Given the description of an element on the screen output the (x, y) to click on. 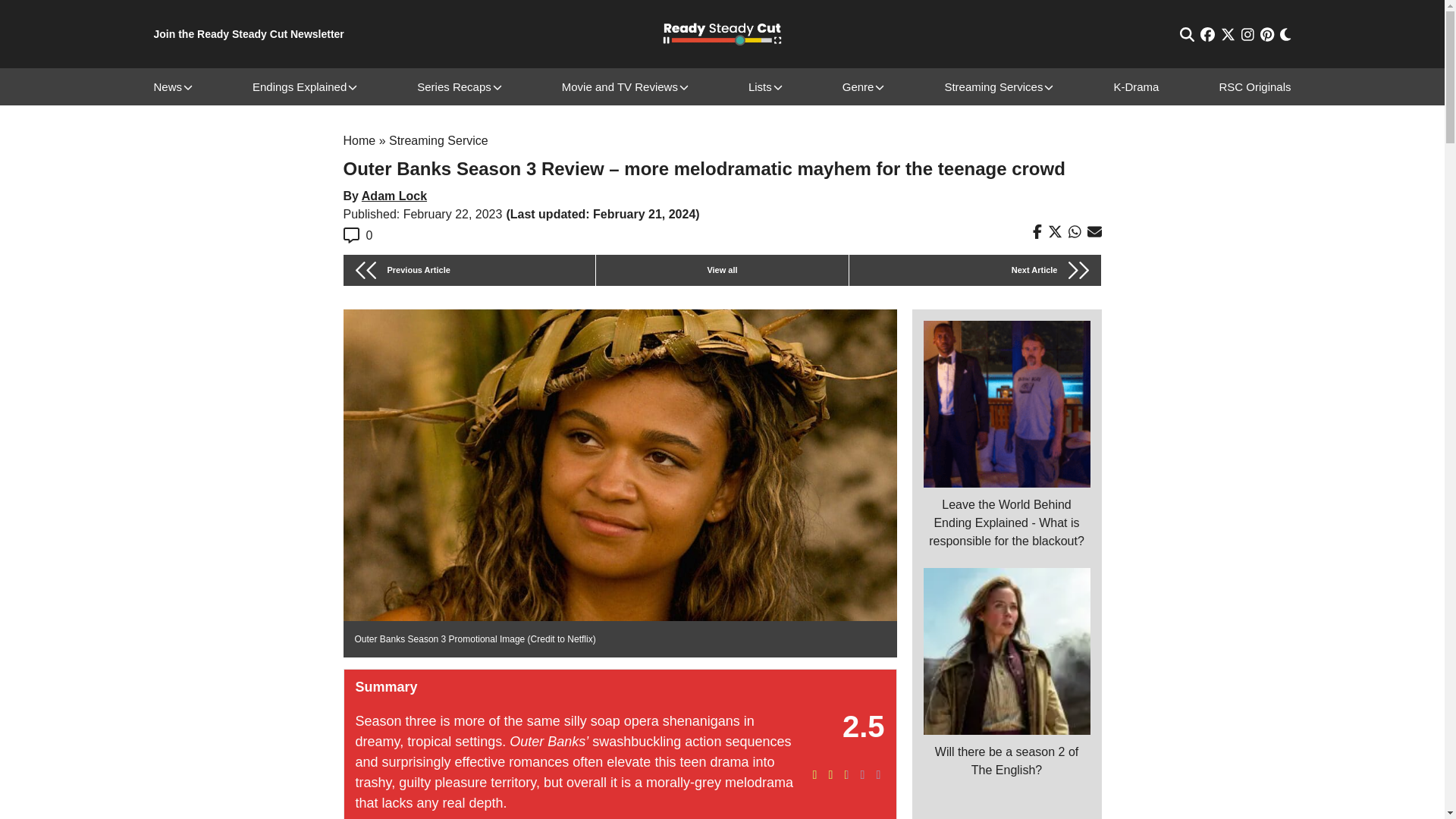
pinterest (1267, 34)
Movie and TV Reviews (620, 86)
Series Recaps (454, 86)
Join the Ready Steady Cut Newsletter (247, 33)
Endings Explained (298, 86)
Open Search (1186, 34)
twitter (1227, 34)
facebook (1206, 34)
Streaming Services (992, 86)
instagram (1247, 34)
